Given the description of an element on the screen output the (x, y) to click on. 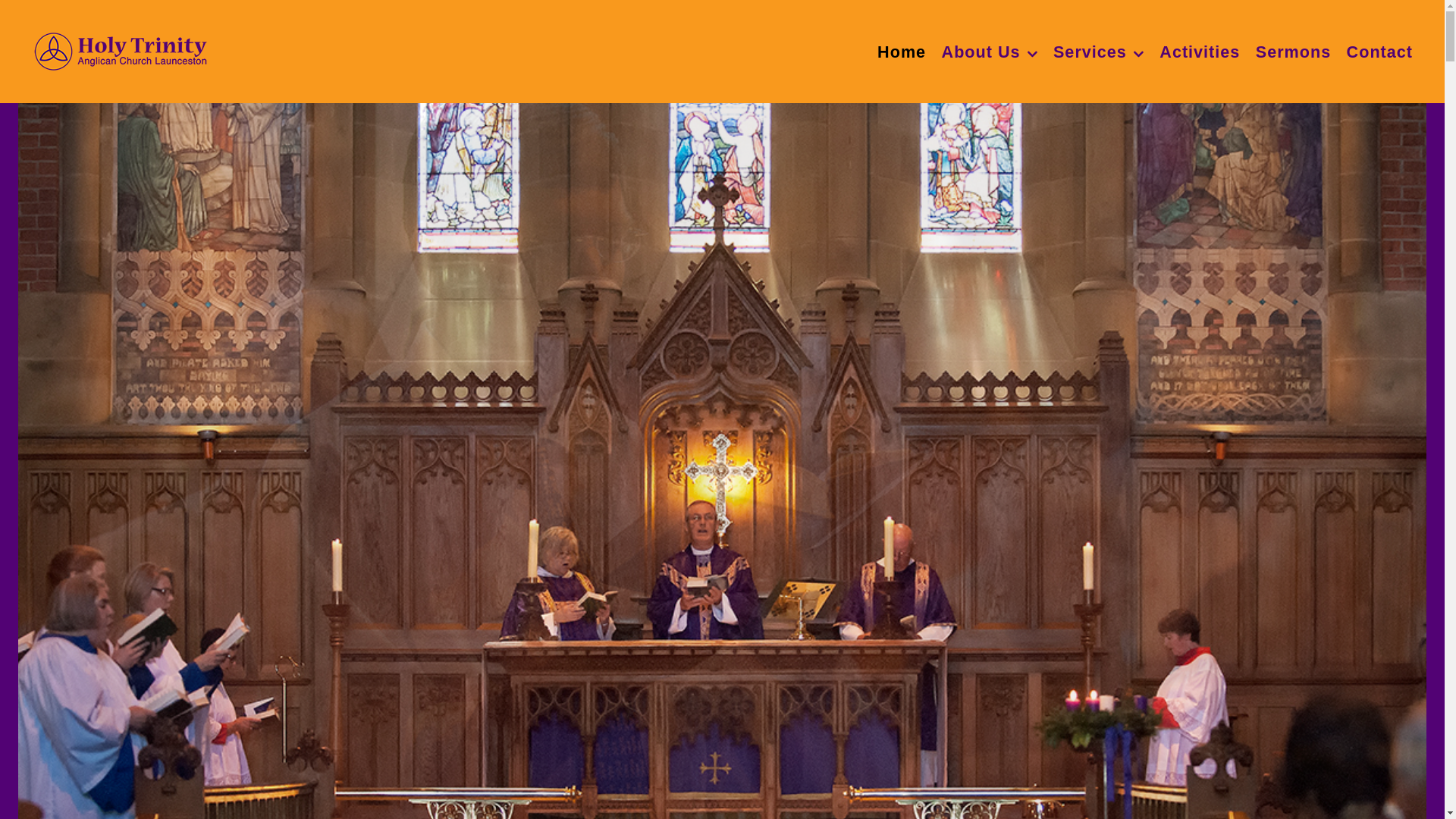
Services Element type: text (1098, 51)
Sermons Element type: text (1292, 51)
Flux Element type: hover (120, 48)
Activities Element type: text (1199, 51)
Home Element type: text (901, 51)
Contact Element type: text (1379, 51)
About Us Element type: text (989, 51)
